Given the description of an element on the screen output the (x, y) to click on. 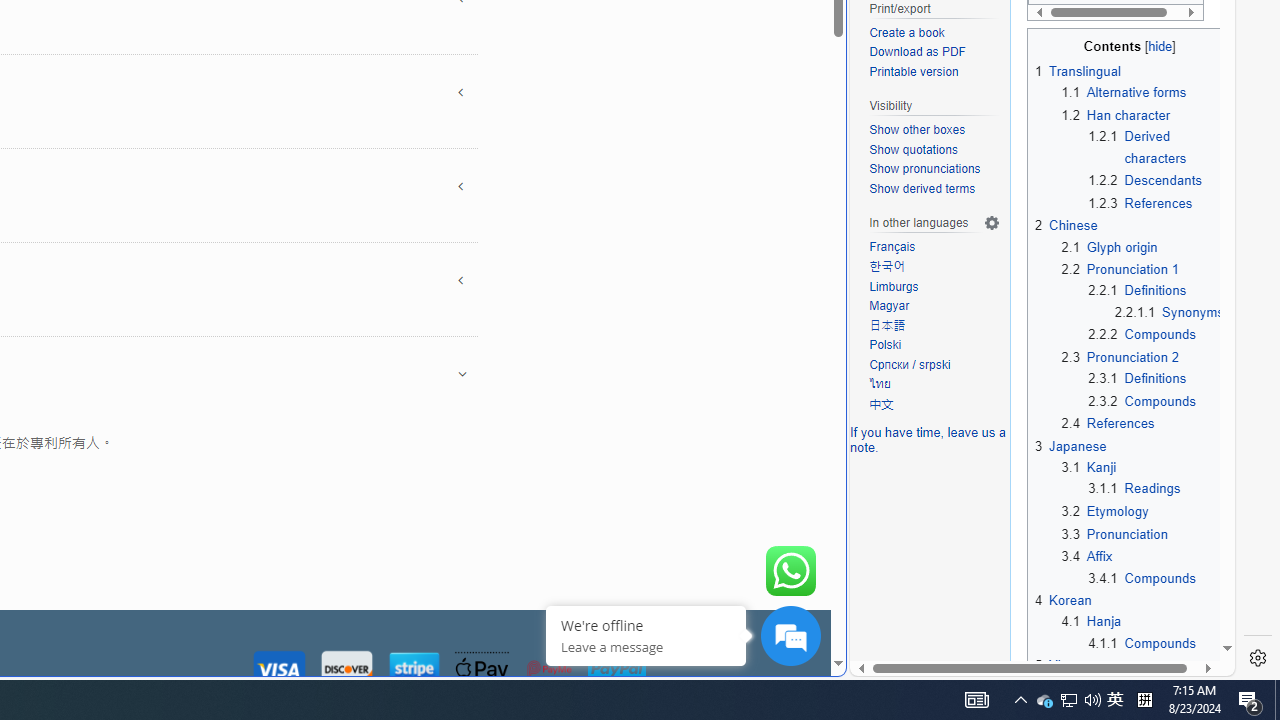
Create a book (906, 32)
5Vietnamese5.1Han character (1129, 676)
1.2.2 Descendants (1145, 180)
2.3.1 Definitions (1137, 378)
3.3 Pronunciation (1114, 533)
1.1 Alternative forms (1123, 92)
4Korean4.1Hanja4.1.1Compounds (1129, 621)
Polski (934, 345)
Show pronunciations (924, 169)
3.4 Affix (1087, 556)
Download as PDF (917, 51)
